Given the description of an element on the screen output the (x, y) to click on. 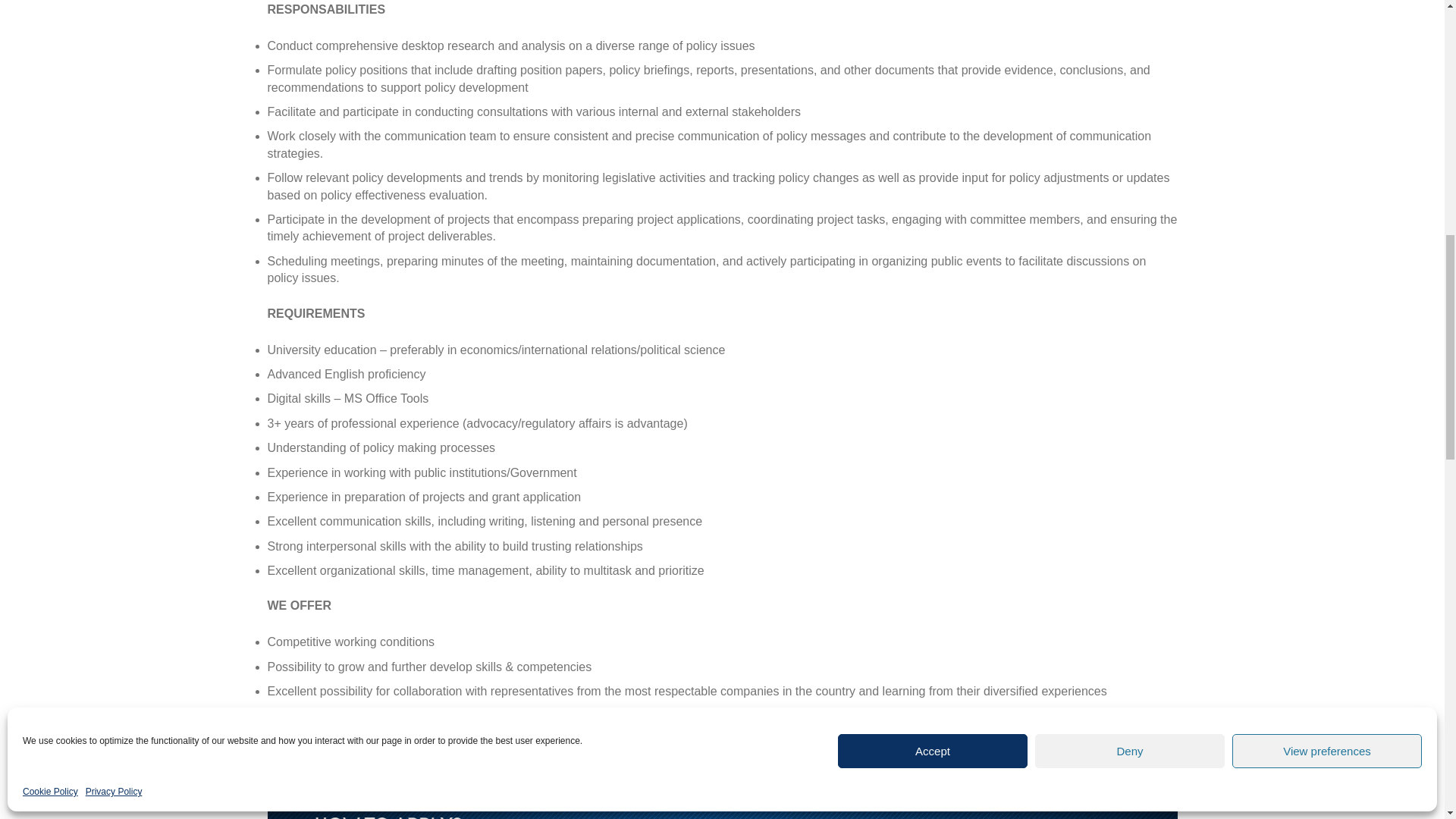
View preferences (1326, 341)
Deny (1129, 341)
Cookie Policy (50, 381)
Privacy Policy (113, 381)
Accept (932, 341)
